Given the description of an element on the screen output the (x, y) to click on. 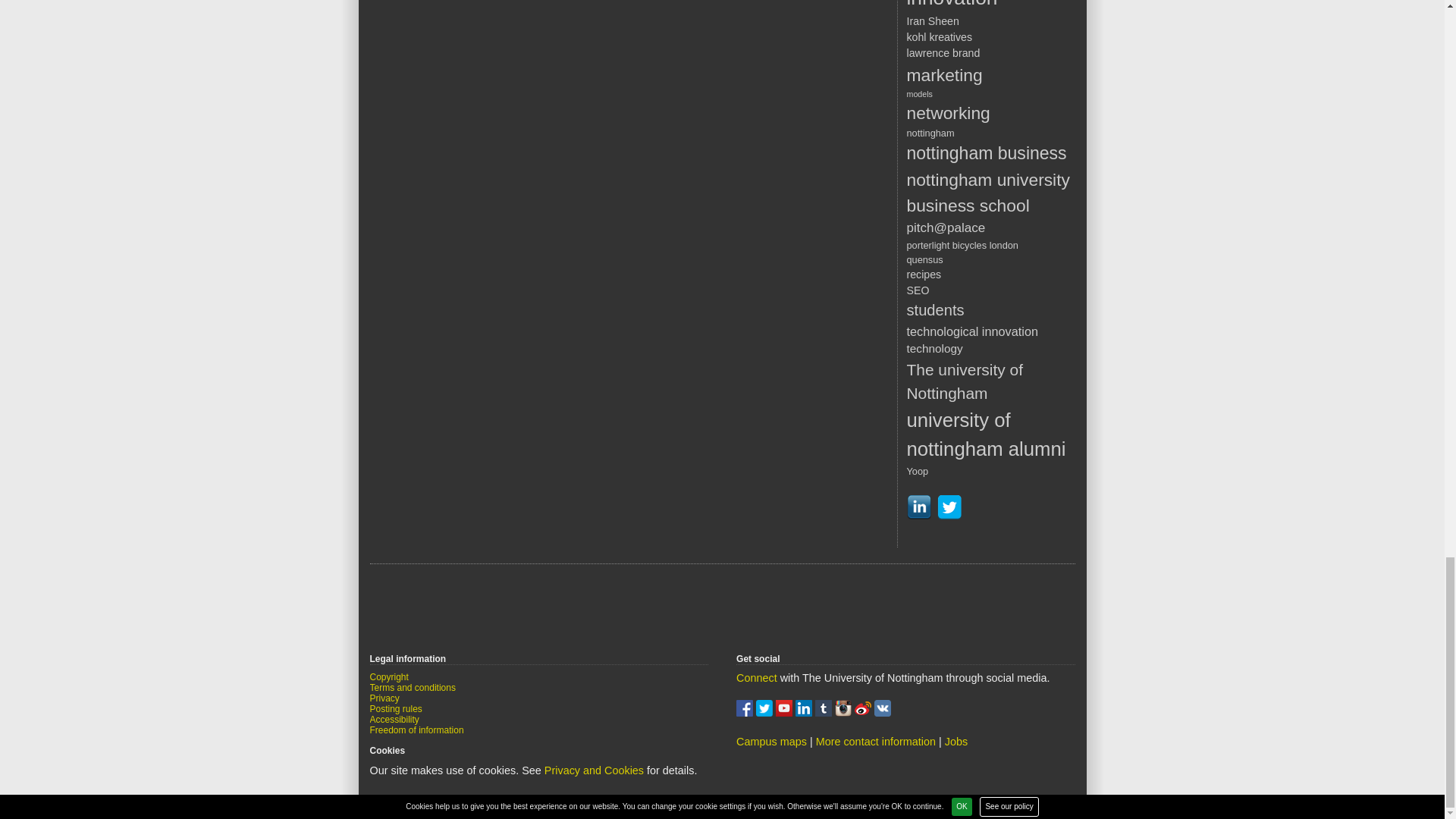
Follow our Tumblr (824, 712)
Join us on Linked in (804, 712)
Privacy (383, 697)
Follow us on twitter (765, 712)
Freedom of information (416, 729)
Accessibility (394, 719)
Terms and conditions (412, 687)
Find us on Weibo (864, 712)
Find us on facebook (745, 712)
Join us on vkontakte (883, 712)
Copyright  (389, 676)
Find us on Instagram (844, 712)
Watch us on You Tube (785, 712)
Get Social with The University of Nottingham (756, 677)
Posting rules (395, 708)
